Given the description of an element on the screen output the (x, y) to click on. 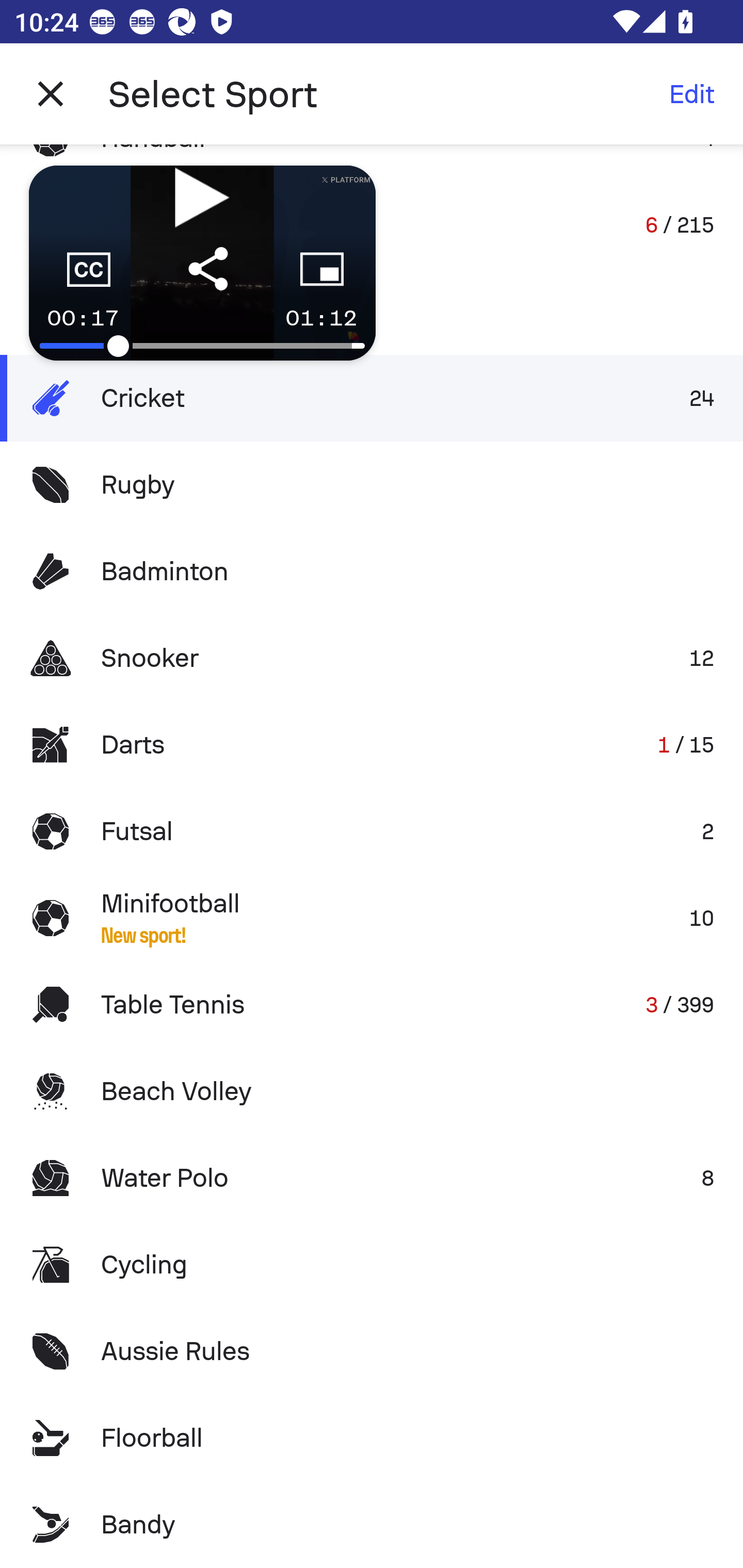
Edit (691, 93)
Cricket 24 (371, 398)
Rugby (371, 485)
Badminton (371, 571)
Snooker 12 (371, 657)
Darts 1 / 15 (371, 744)
Futsal 2 (371, 831)
Minifootball New sport! 10 (371, 917)
Table Tennis 3 / 399 (371, 1004)
Beach Volley (371, 1091)
Water Polo 8 (371, 1178)
Cycling (371, 1264)
Aussie Rules (371, 1350)
Floorball (371, 1437)
Bandy (371, 1524)
